Given the description of an element on the screen output the (x, y) to click on. 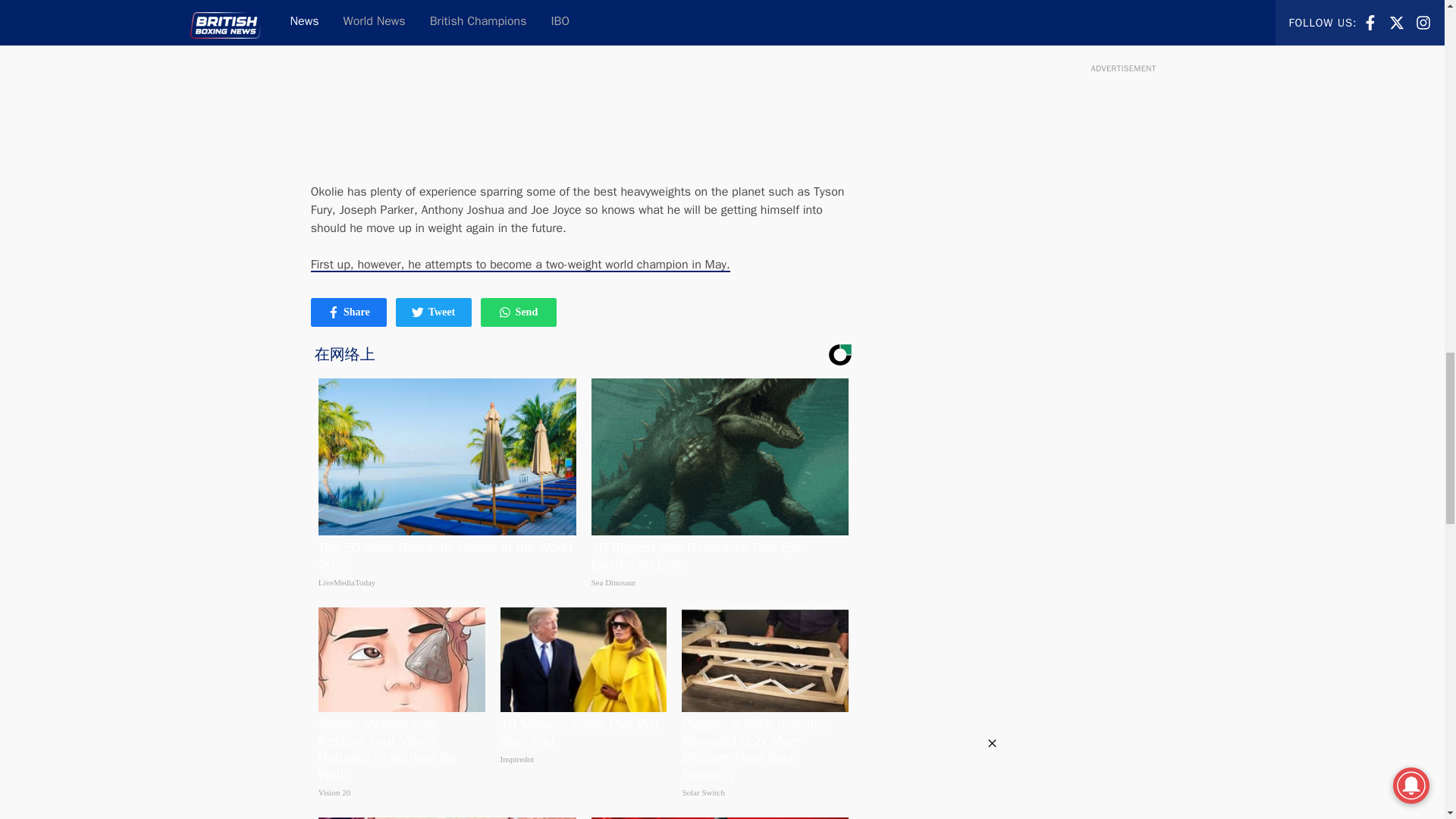
Twitter (433, 312)
WhatsApp (349, 312)
Facebook (417, 312)
